Given the description of an element on the screen output the (x, y) to click on. 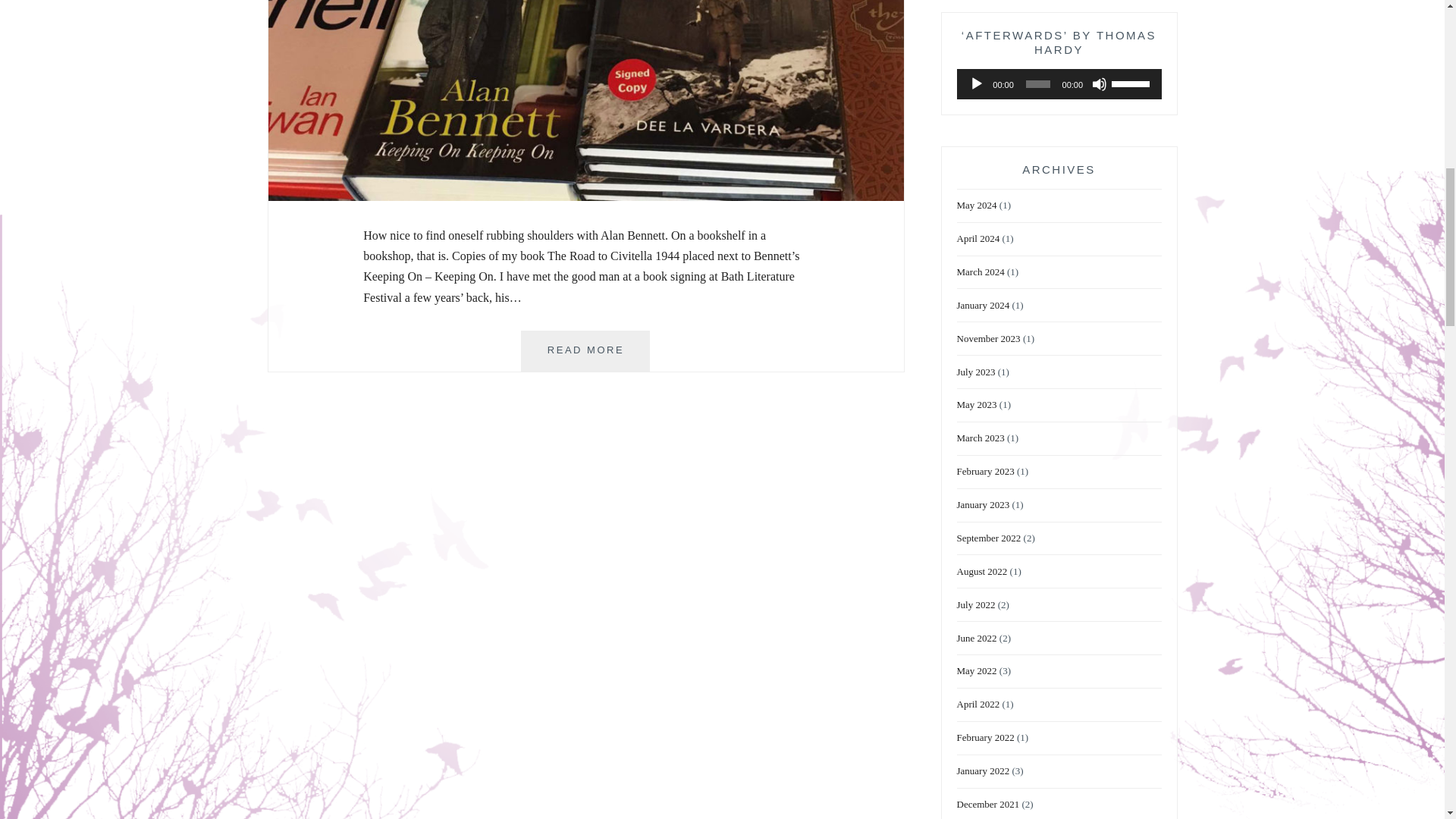
May 2023 (976, 404)
May 2024 (976, 205)
Font-astic! (585, 196)
Mute (585, 350)
January 2024 (1099, 83)
March 2024 (983, 305)
July 2023 (980, 272)
March 2023 (975, 372)
April 2024 (980, 438)
November 2023 (978, 238)
Play (988, 338)
